Given the description of an element on the screen output the (x, y) to click on. 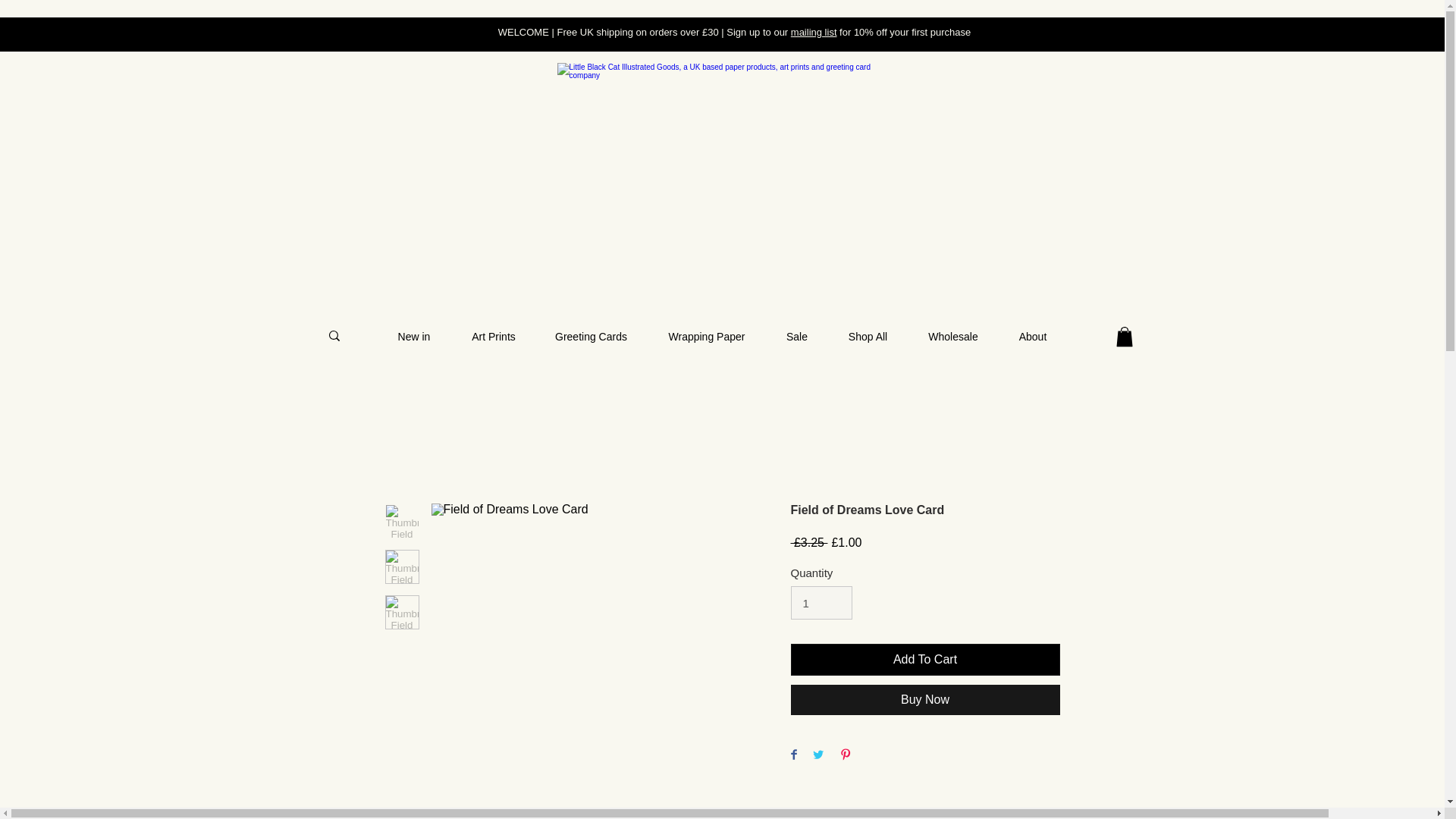
New in (413, 336)
Wrapping Paper (707, 336)
Shop All (868, 336)
mailing list (813, 31)
About (1032, 336)
Art Prints (492, 336)
Greeting Cards (591, 336)
Wholesale (953, 336)
1 (820, 602)
Sale (796, 336)
